Given the description of an element on the screen output the (x, y) to click on. 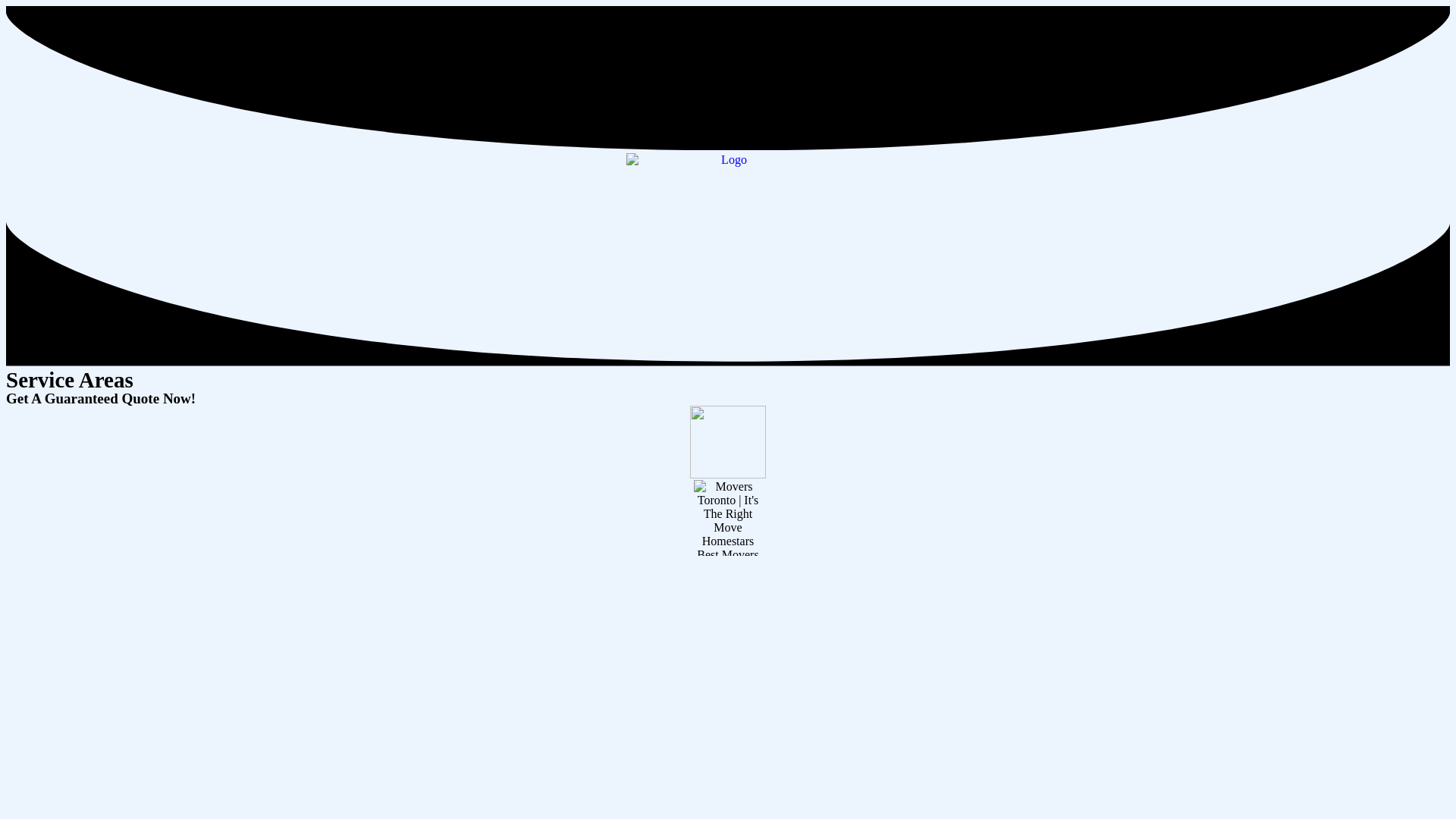
Service Areas (776, 210)
Moving Services (665, 210)
Logo (727, 176)
Book Movers (561, 210)
